Given the description of an element on the screen output the (x, y) to click on. 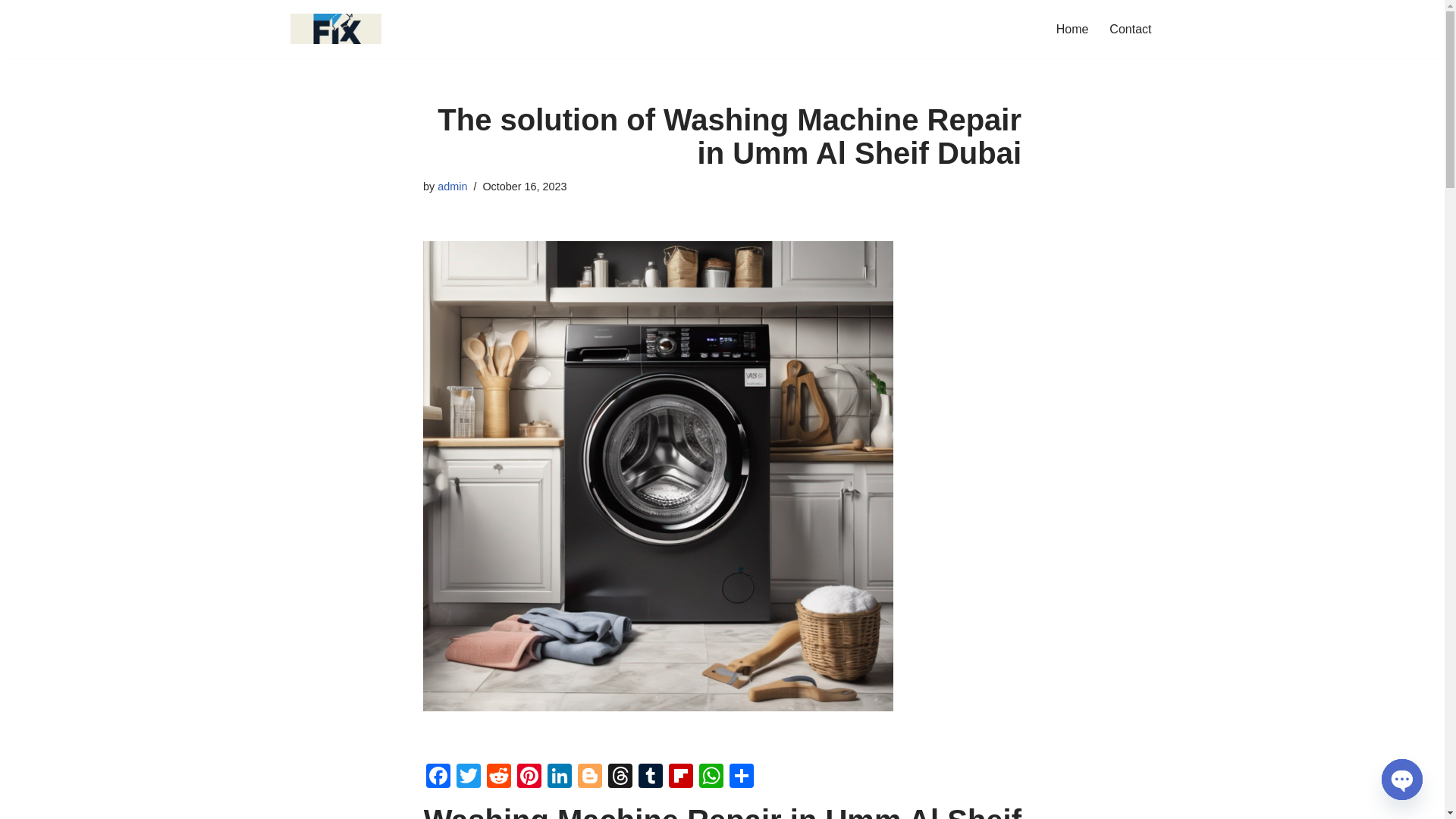
Facebook (437, 777)
Share (741, 777)
Threads (619, 777)
Flipboard (680, 777)
Tumblr (649, 777)
Reddit (498, 777)
Blogger (590, 777)
Flipboard (680, 777)
Facebook (437, 777)
Home (1073, 28)
